Given the description of an element on the screen output the (x, y) to click on. 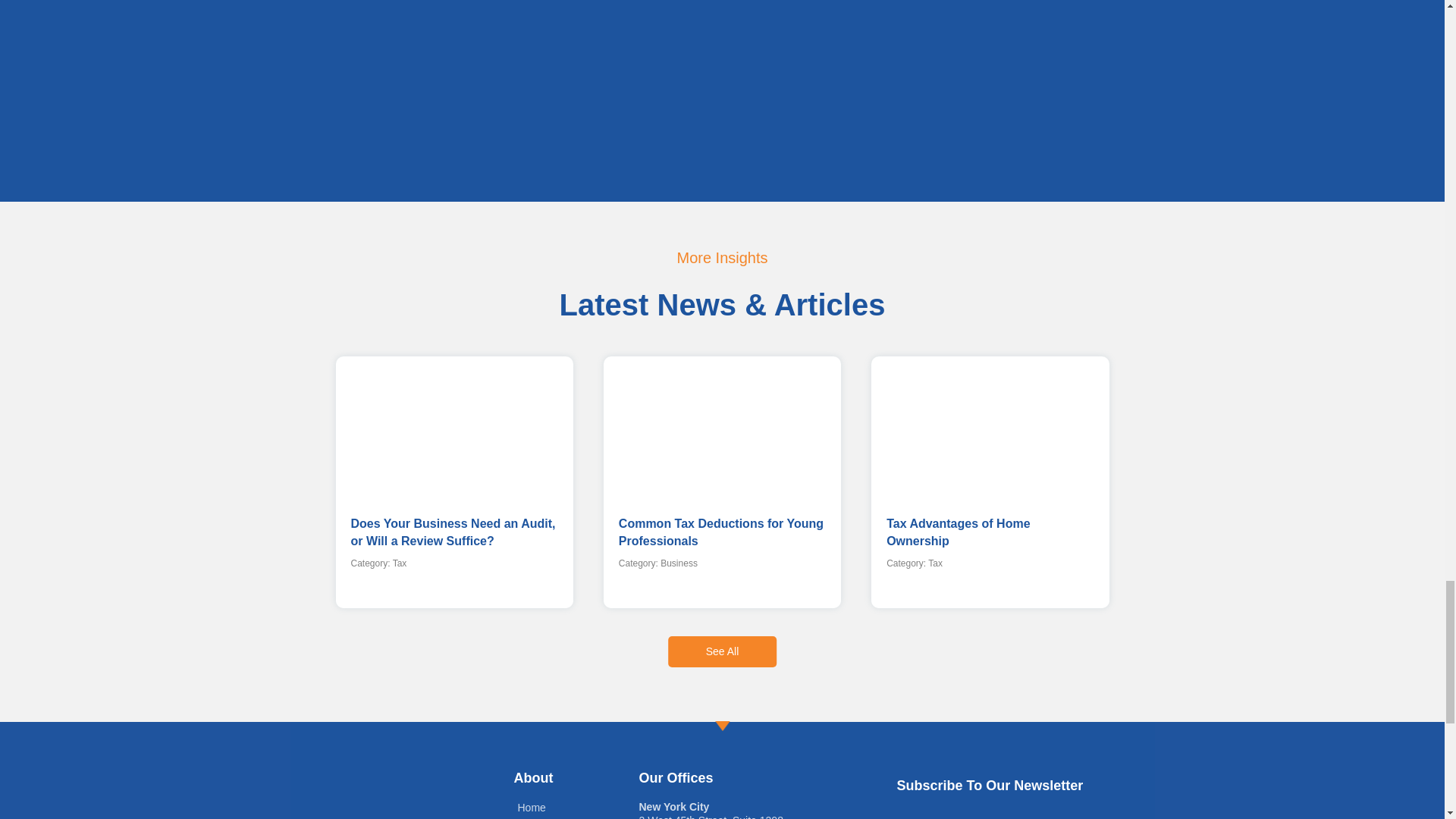
Form 2 (1013, 813)
Form 0 (722, 81)
